Given the description of an element on the screen output the (x, y) to click on. 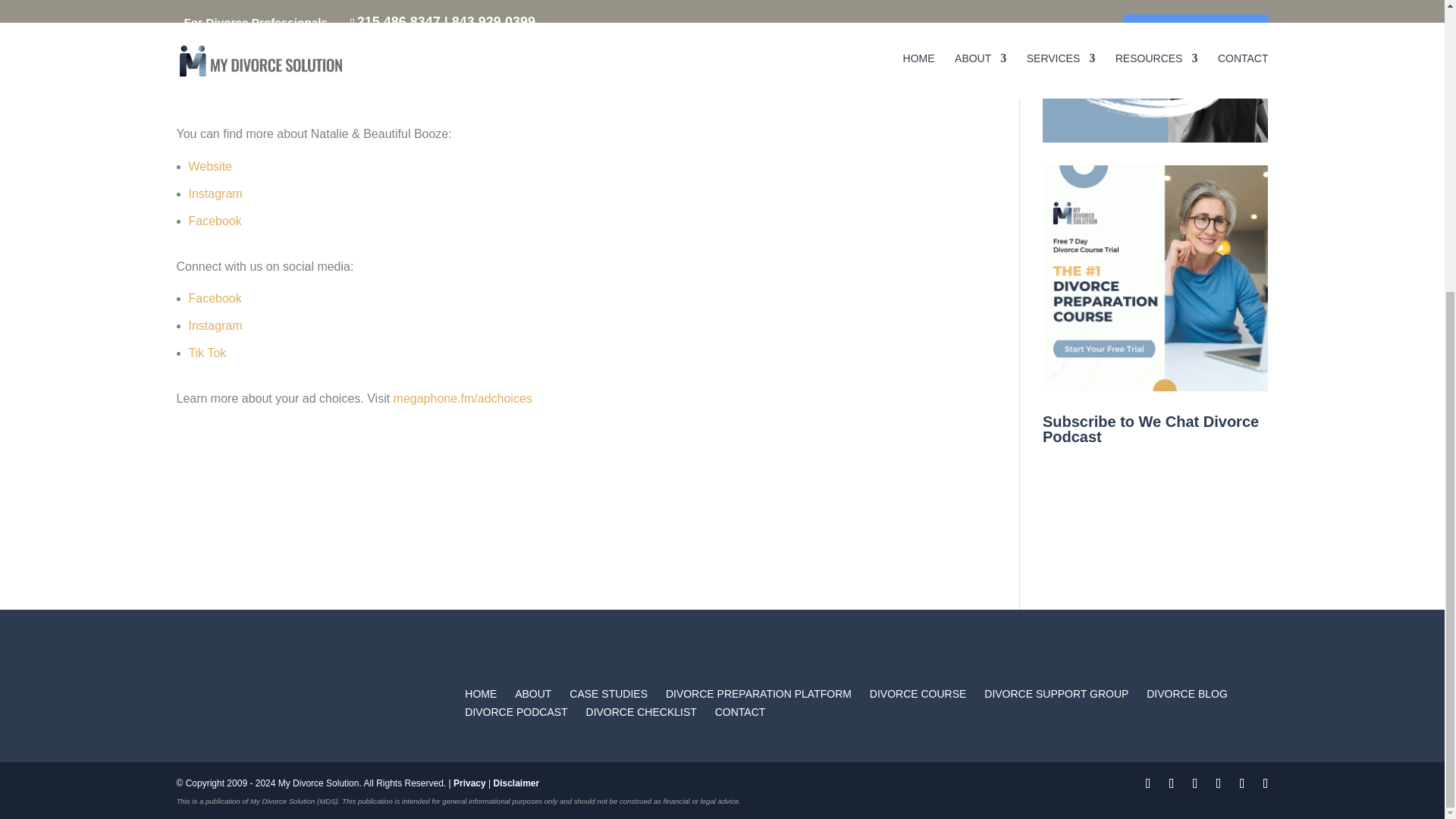
Facebook (214, 297)
Amazon-Music (1206, 506)
Instagram (214, 325)
Apple-Podcasts (1065, 506)
Google-Podcasts (1113, 506)
Spotify (1160, 506)
Stitcher (1113, 545)
Audible (1206, 545)
iHeartRadio (1065, 545)
YouTube (1160, 545)
Tik Tok (206, 352)
Facebook (214, 219)
Website (209, 164)
Instagram (214, 192)
